Given the description of an element on the screen output the (x, y) to click on. 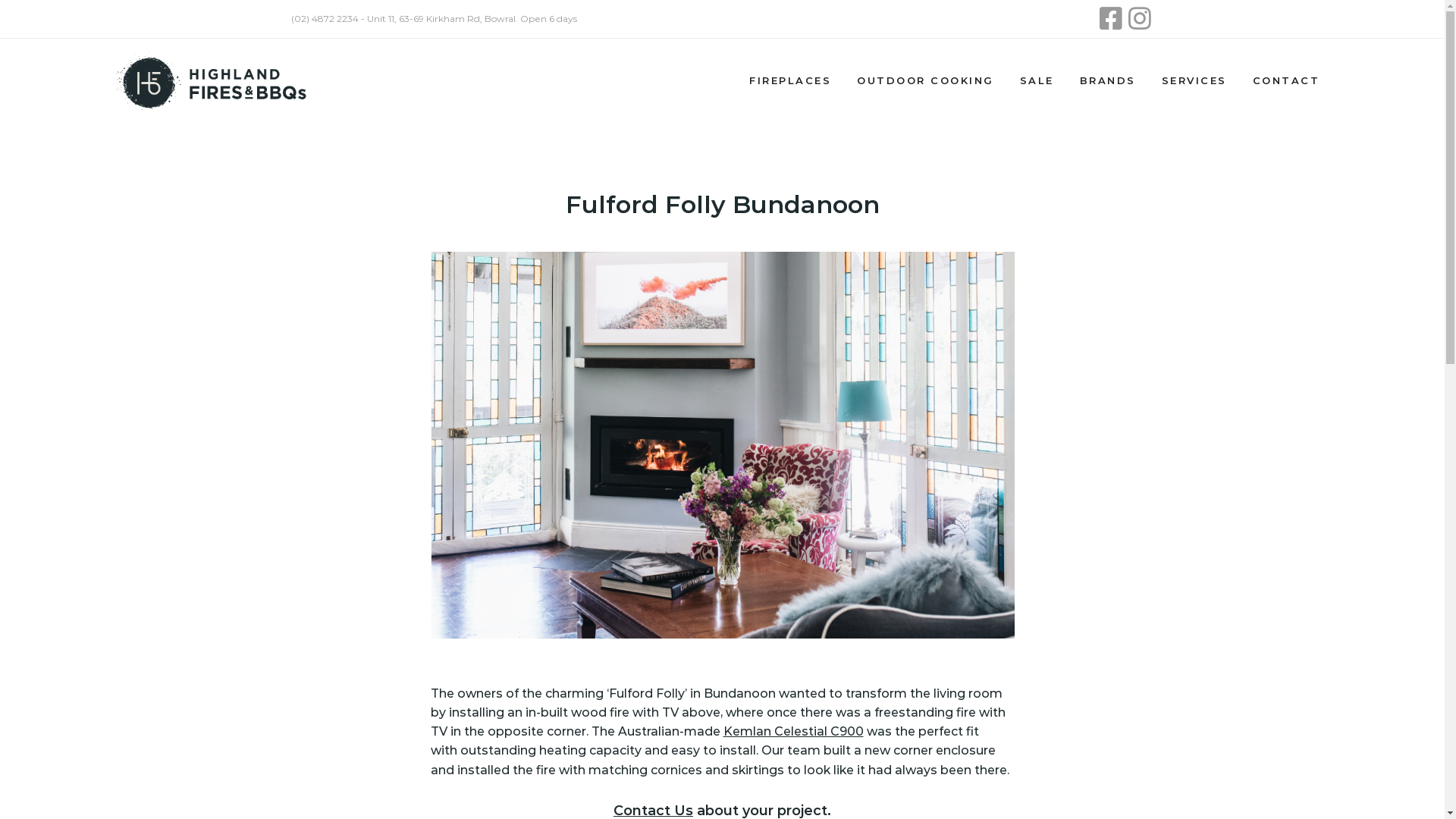
SALE Element type: text (1036, 80)
CONTACT Element type: text (1285, 80)
BRANDS Element type: text (1106, 80)
FIREPLACES Element type: text (789, 80)
Kemlan Celestial C900 Element type: text (793, 731)
OUTDOOR COOKING Element type: text (925, 80)
SERVICES Element type: text (1193, 80)
